Given the description of an element on the screen output the (x, y) to click on. 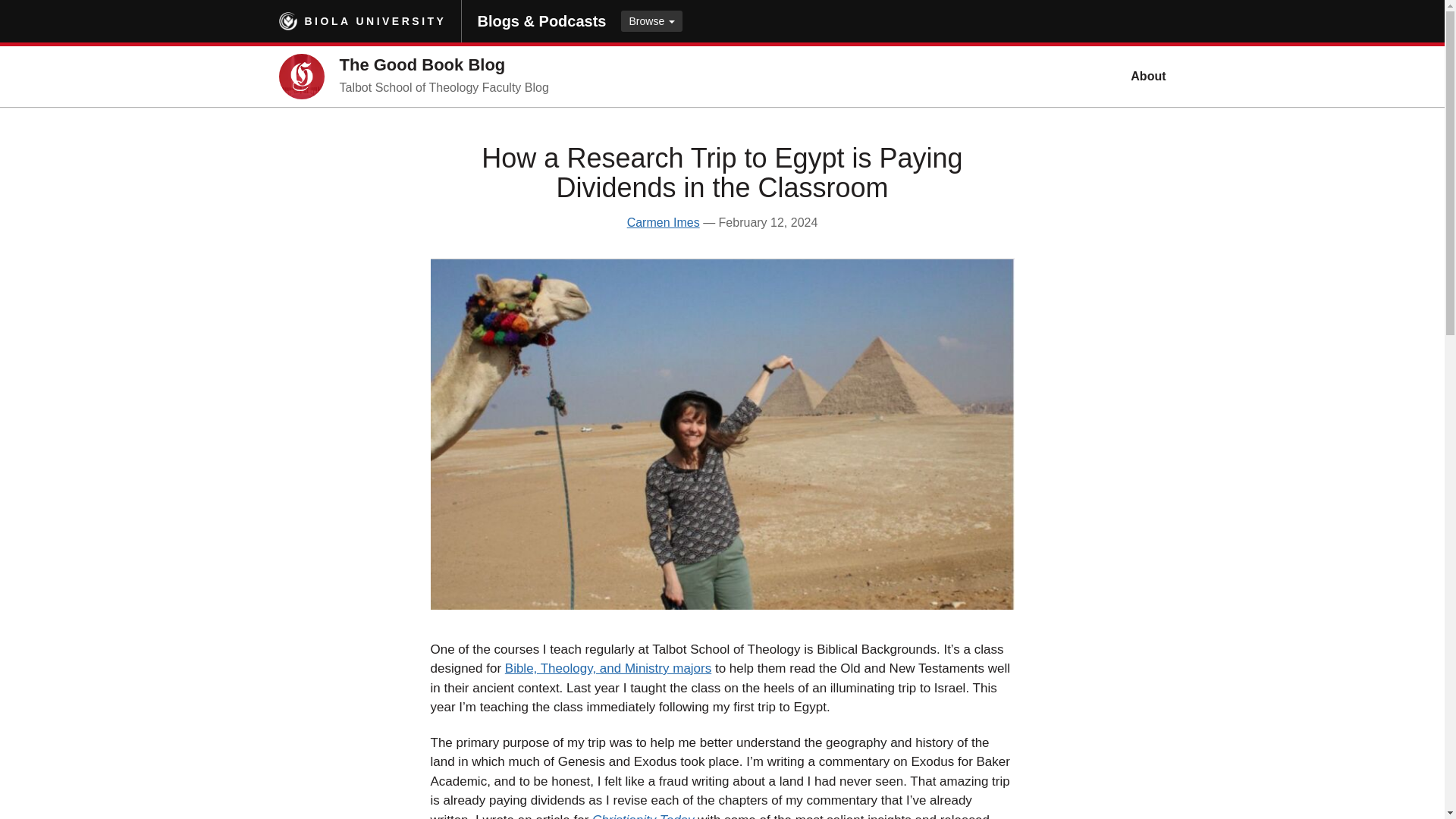
Bible, Theology, and Ministry majors (608, 667)
Christianity Today (641, 816)
Browse (651, 20)
BIOLA UNIVERSITY (375, 21)
Carmen Imes (663, 222)
The Good Book Blog (422, 64)
